Given the description of an element on the screen output the (x, y) to click on. 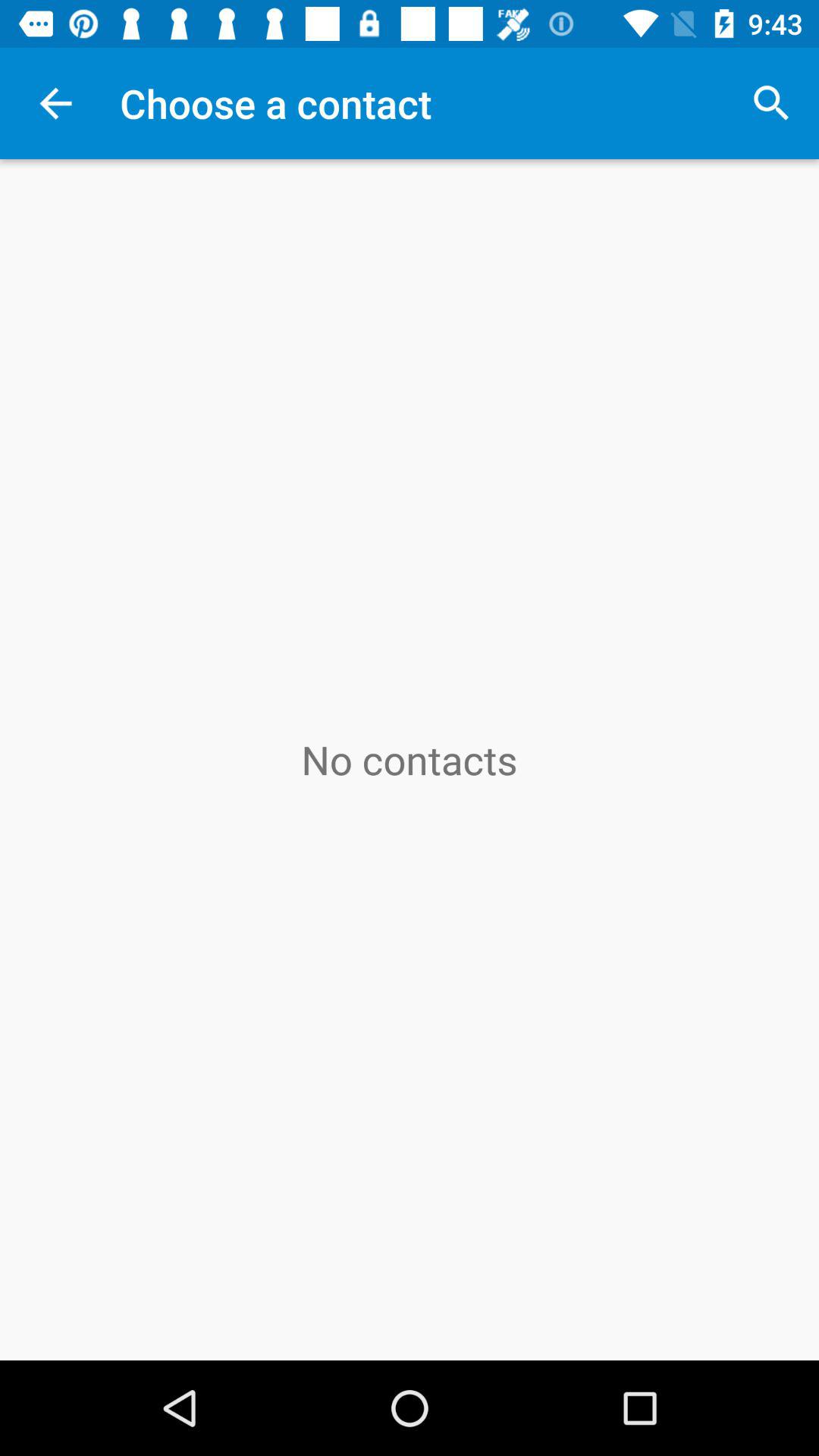
turn off icon to the right of choose a contact app (771, 103)
